Given the description of an element on the screen output the (x, y) to click on. 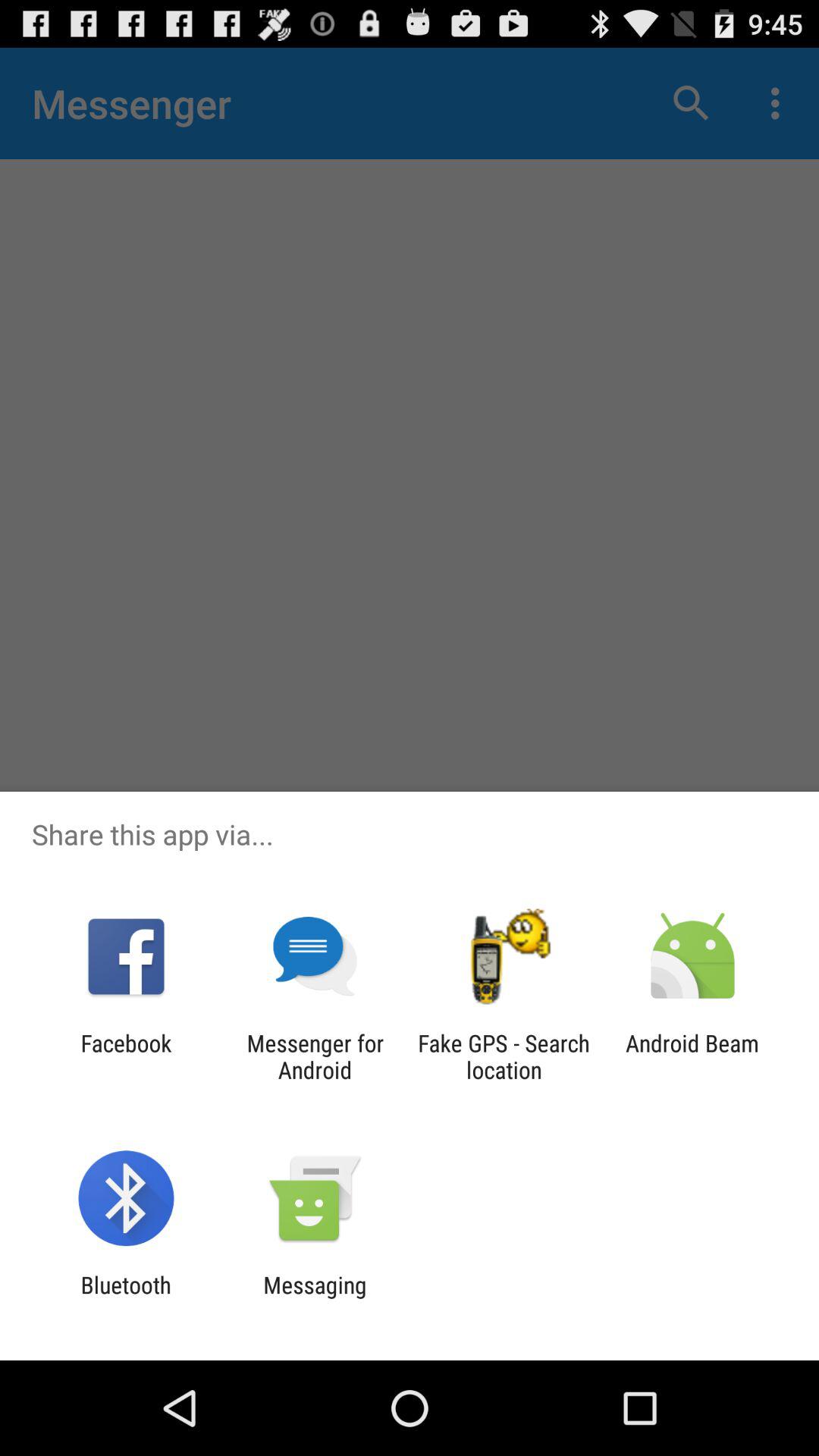
choose facebook icon (125, 1056)
